Given the description of an element on the screen output the (x, y) to click on. 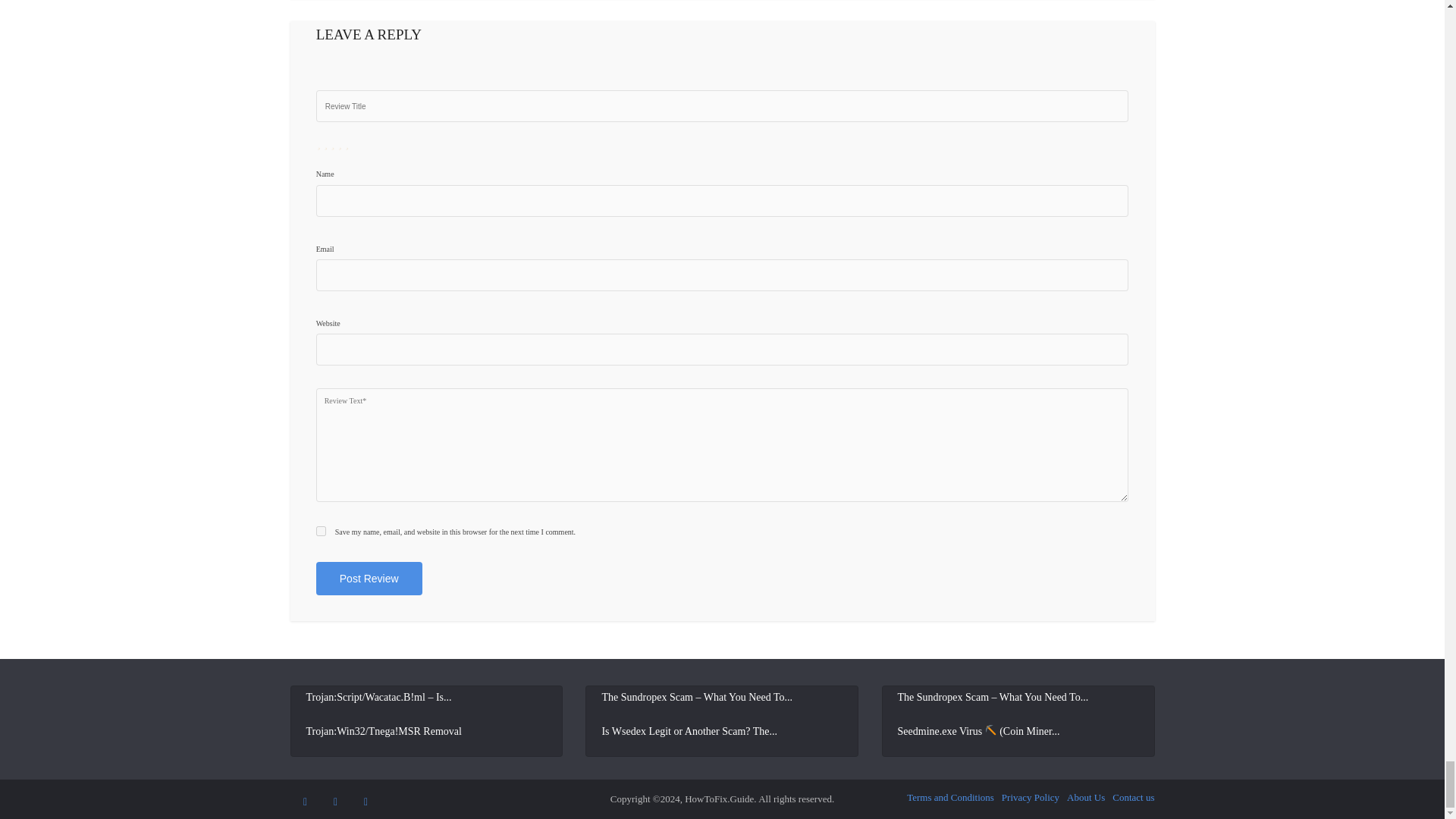
Post Review (368, 578)
yes (320, 531)
